Given the description of an element on the screen output the (x, y) to click on. 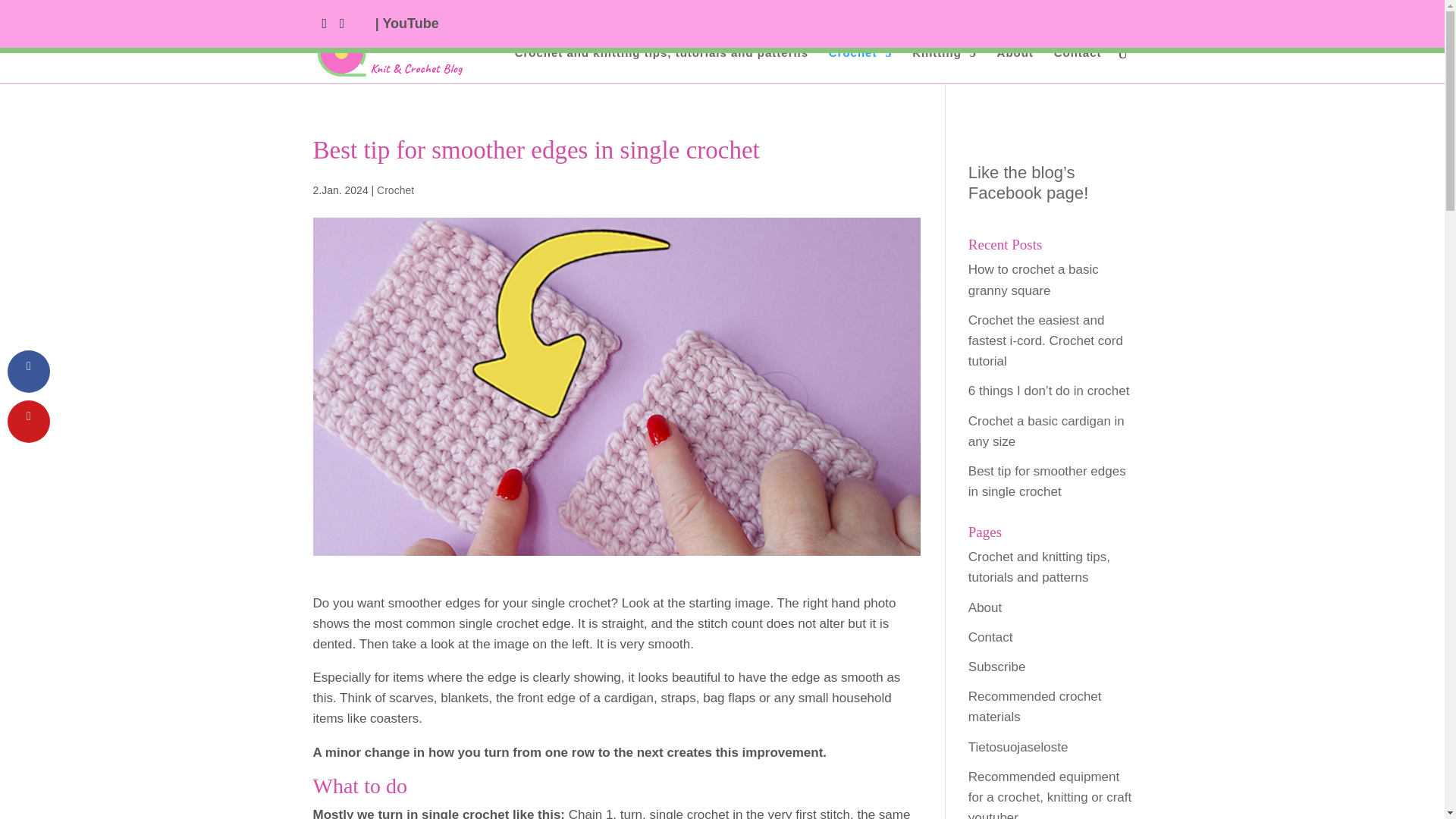
Crochet (860, 65)
Crochet and knitting tips, tutorials and patterns (661, 65)
Contact (1078, 65)
About (1015, 65)
Knitting (944, 65)
